Given the description of an element on the screen output the (x, y) to click on. 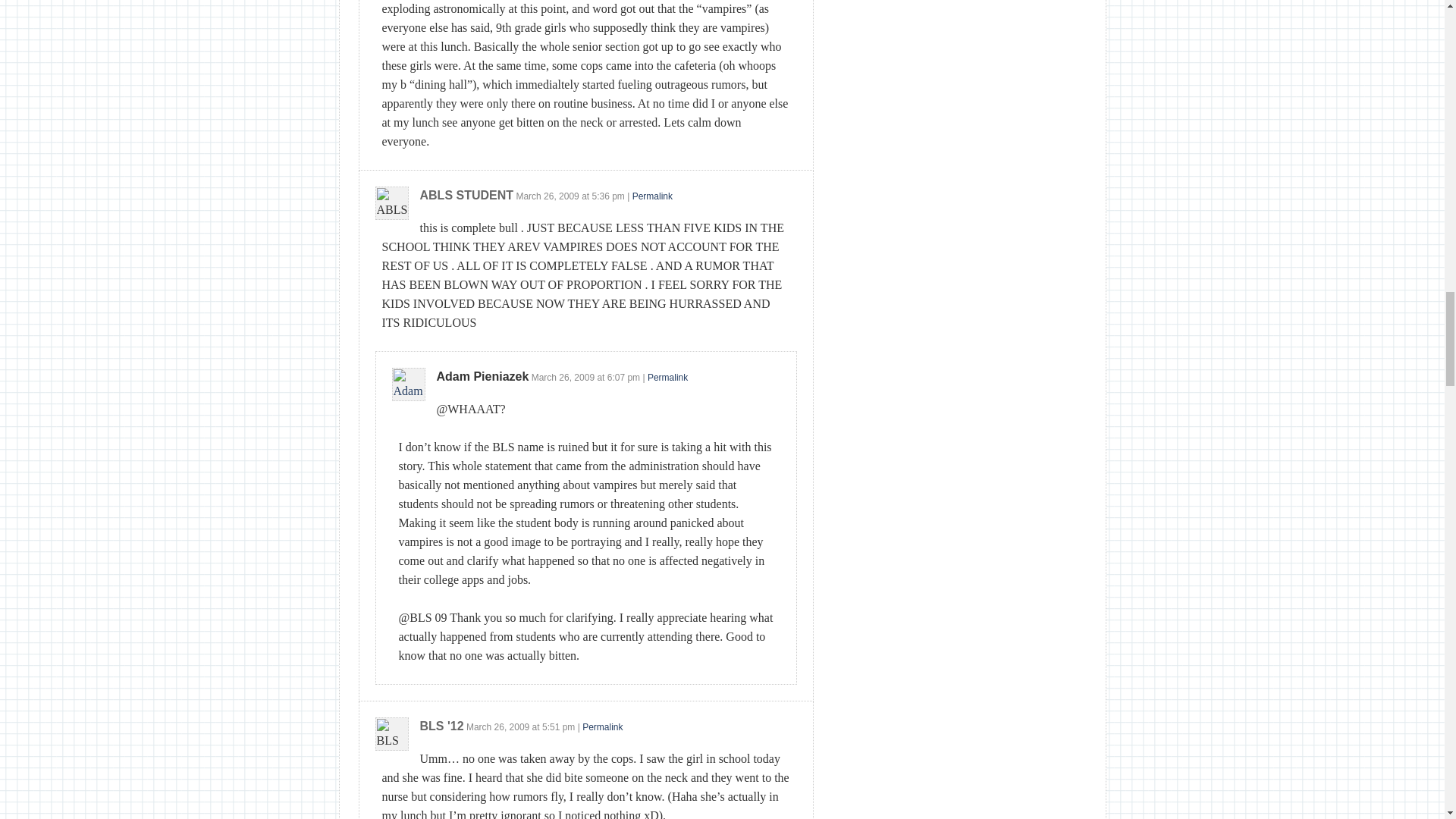
Permalink (602, 726)
Permalink (651, 195)
Permalink (667, 377)
Adam Pieniazek (482, 376)
